Given the description of an element on the screen output the (x, y) to click on. 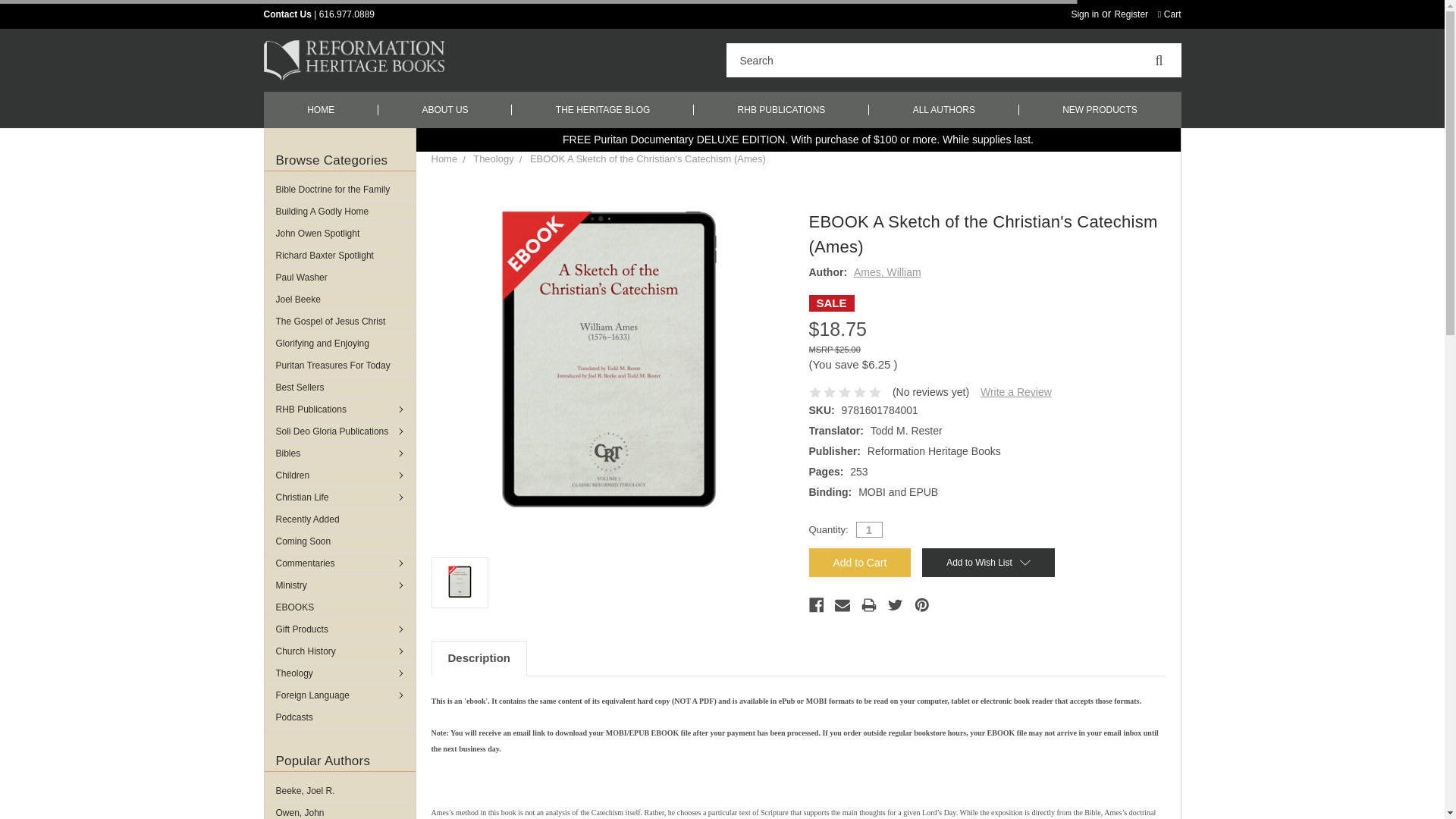
Joel Beeke (338, 299)
Best Sellers (338, 387)
RHB PUBLICATIONS (781, 109)
ALL AUTHORS (944, 109)
Bible Doctrine for the Family (338, 189)
Glorifying and Enjoying (338, 342)
Building A Godly Home (338, 210)
Register (1131, 14)
Sign in (1084, 14)
NEW PRODUCTS (1099, 109)
